Given the description of an element on the screen output the (x, y) to click on. 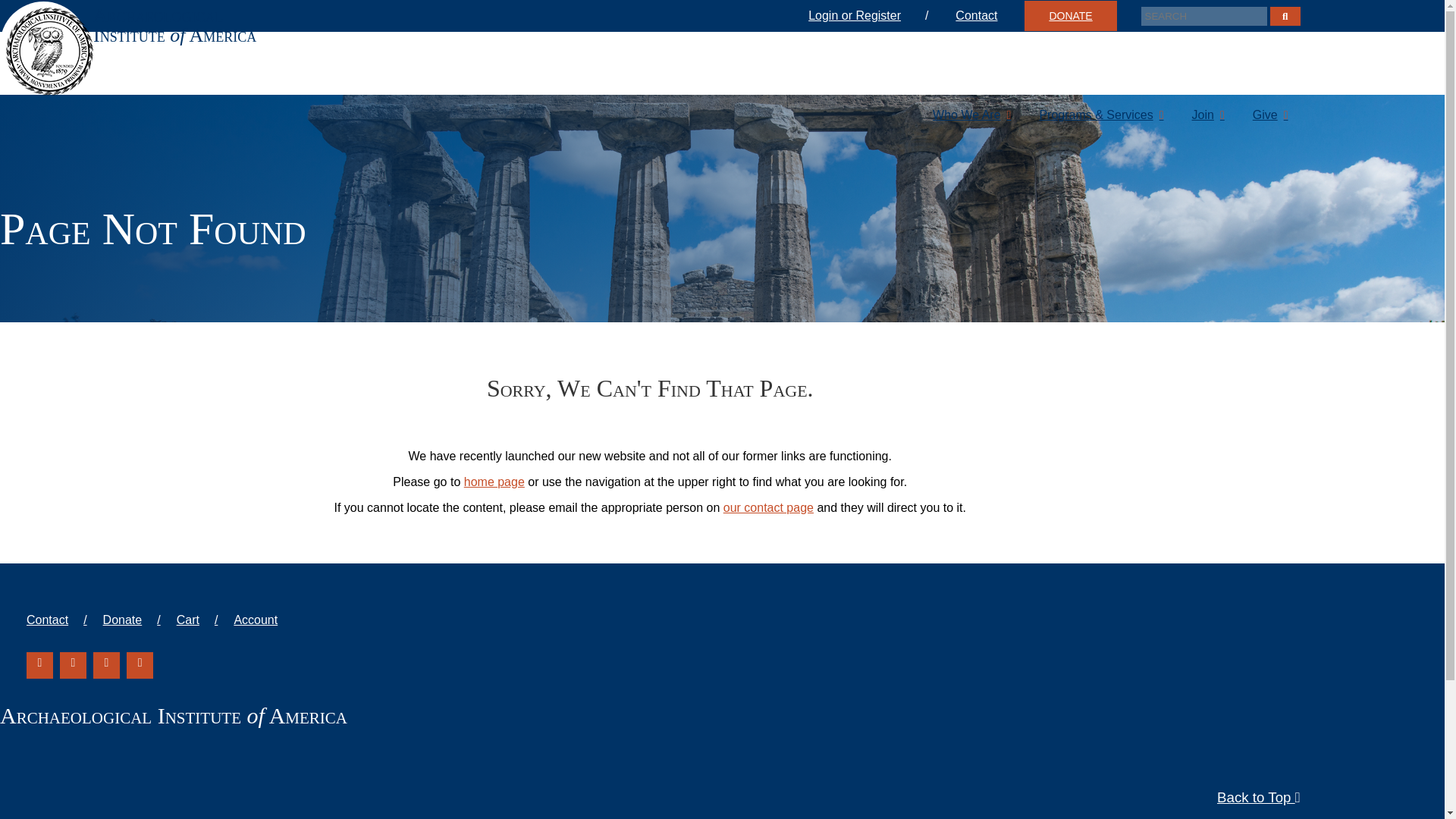
Join (1207, 115)
Contact (976, 15)
DONATE (1070, 15)
Login or Register (880, 15)
Who We Are (43, 38)
